Given the description of an element on the screen output the (x, y) to click on. 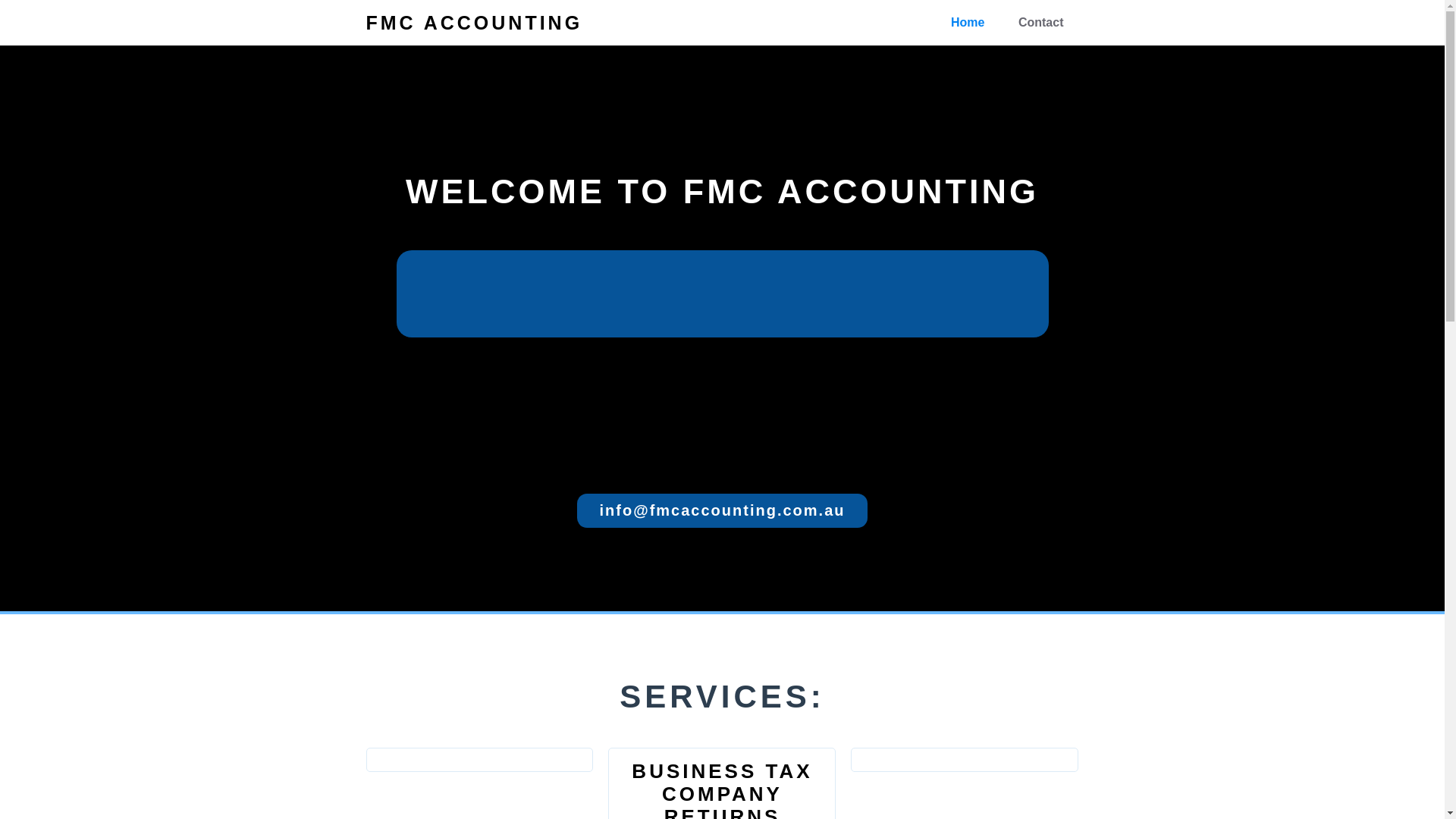
Home Element type: text (967, 22)
FMC ACCOUNTING Element type: text (473, 22)
Contact Element type: text (1041, 22)
info@fmcaccounting.com.au Element type: text (722, 510)
